Given the description of an element on the screen output the (x, y) to click on. 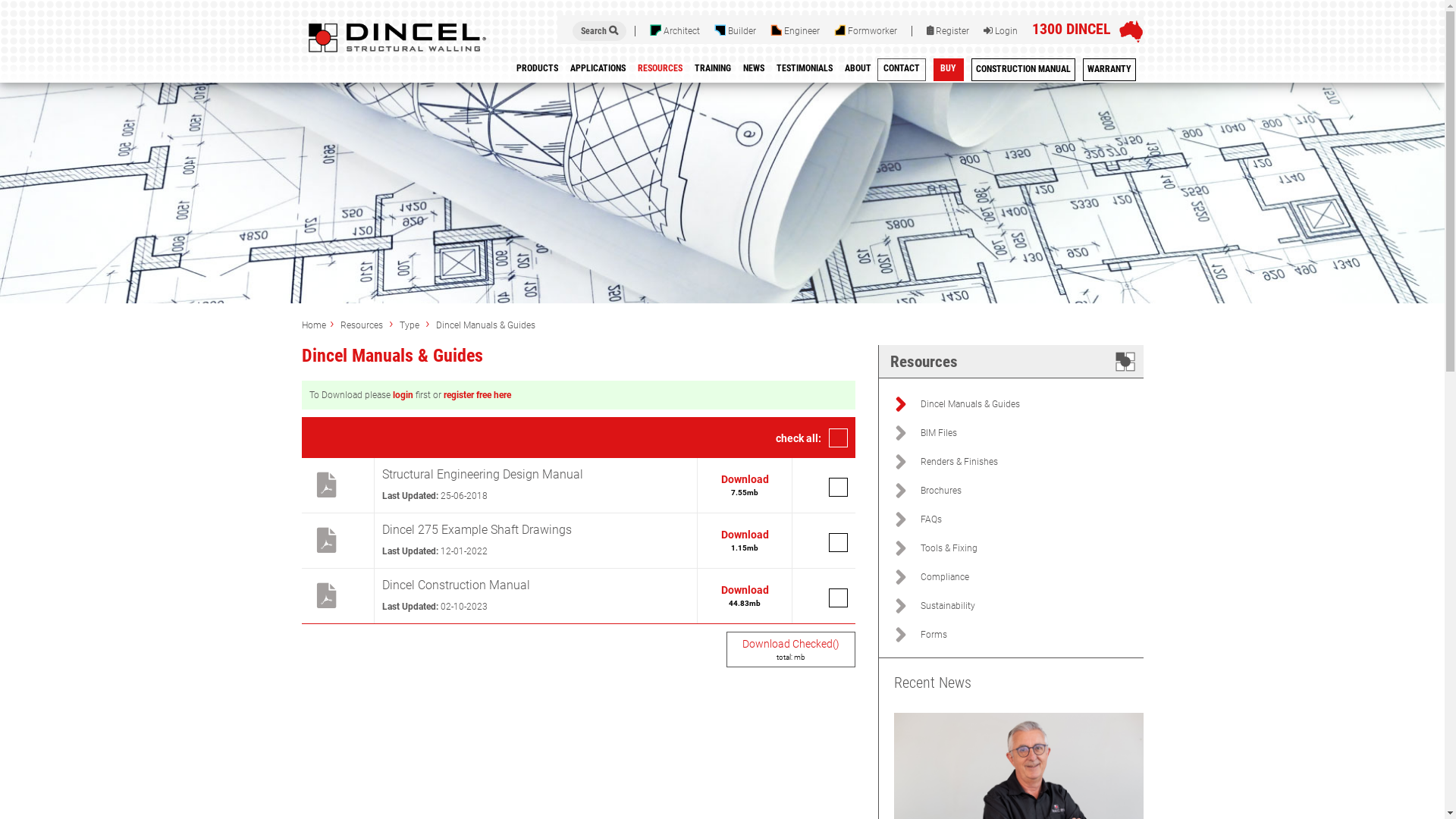
BUY Element type: text (947, 70)
Download
44.83mb Element type: text (744, 595)
Engineer Element type: text (794, 30)
CONTACT Element type: text (900, 70)
Tools & Fixing Element type: text (1031, 547)
Download Checked()
total: mb Element type: text (790, 649)
login Element type: text (402, 394)
Renders & Finishes Element type: text (1031, 461)
TRAINING Element type: text (712, 70)
CONSTRUCTION MANUAL Element type: text (1022, 70)
Brochures Element type: text (1031, 490)
APPLICATIONS Element type: text (597, 70)
BIM Files Element type: text (1031, 432)
WARRANTY Element type: text (1108, 70)
Architect Element type: text (674, 30)
FAQs Element type: text (1031, 519)
Forms Element type: text (1031, 634)
NEWS Element type: text (753, 70)
Dincel Manuals & Guides Element type: text (484, 325)
Compliance Element type: text (1031, 576)
register free here Element type: text (476, 394)
Download
1.15mb Element type: text (744, 540)
Download
7.55mb Element type: text (744, 484)
Sustainability Element type: text (1031, 605)
Formworker Element type: text (865, 30)
RESOURCES Element type: text (658, 70)
Type Element type: text (409, 325)
PRODUCTS Element type: text (536, 70)
Home Element type: text (313, 325)
Builder Element type: text (735, 30)
Dincel Manuals & Guides Element type: text (1031, 403)
ABOUT Element type: text (857, 70)
Login Element type: text (999, 30)
TESTIMONIALS Element type: text (804, 70)
1300 DINCEL Element type: text (1070, 28)
Search Element type: text (598, 30)
Register Element type: text (947, 30)
Resources Element type: text (361, 325)
